Given the description of an element on the screen output the (x, y) to click on. 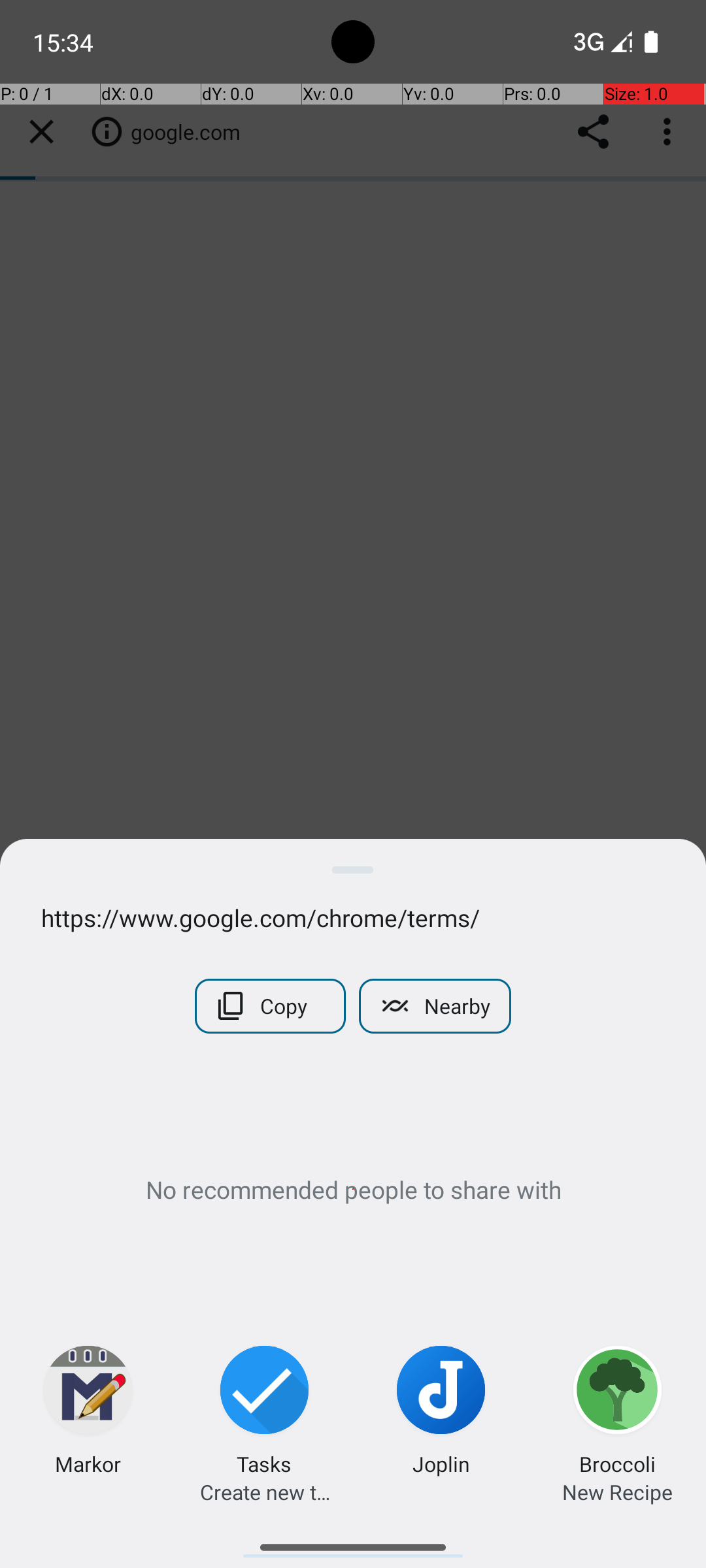
Apps list Element type: android.widget.ImageView (353, 1541)
https://www.google.com/chrome/terms/ Element type: android.widget.TextView (352, 917)
Copy Element type: android.widget.Button (269, 1005)
Nearby Element type: android.widget.Button (434, 1005)
No recommended people to share with Element type: android.widget.TextView (353, 1189)
Tasks Element type: android.widget.TextView (264, 1463)
Create new task Element type: android.widget.TextView (264, 1491)
Joplin Element type: android.widget.TextView (441, 1463)
Broccoli Element type: android.widget.TextView (617, 1463)
New Recipe Element type: android.widget.TextView (617, 1491)
